Given the description of an element on the screen output the (x, y) to click on. 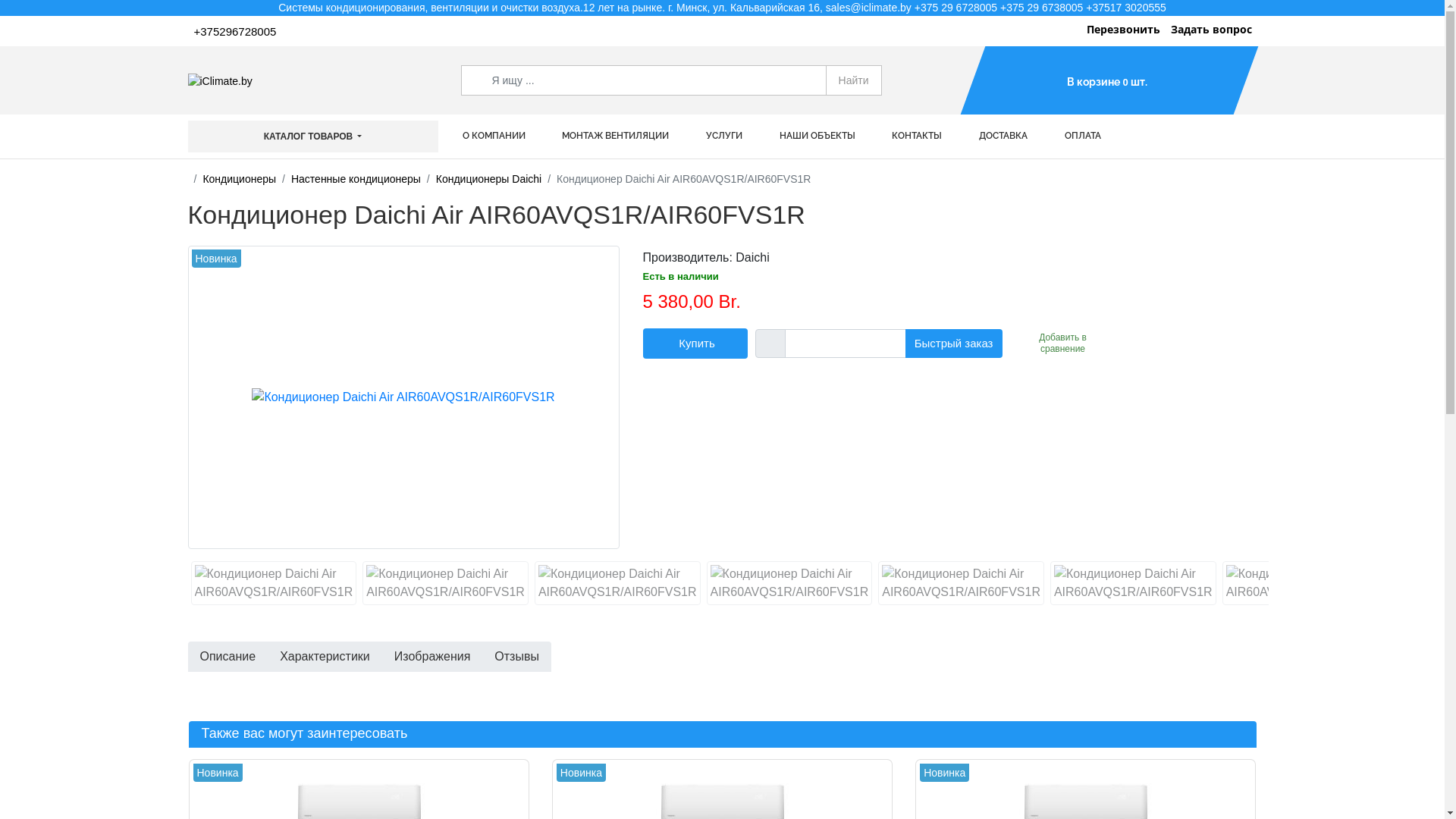
+375296728005 Element type: text (235, 31)
